Given the description of an element on the screen output the (x, y) to click on. 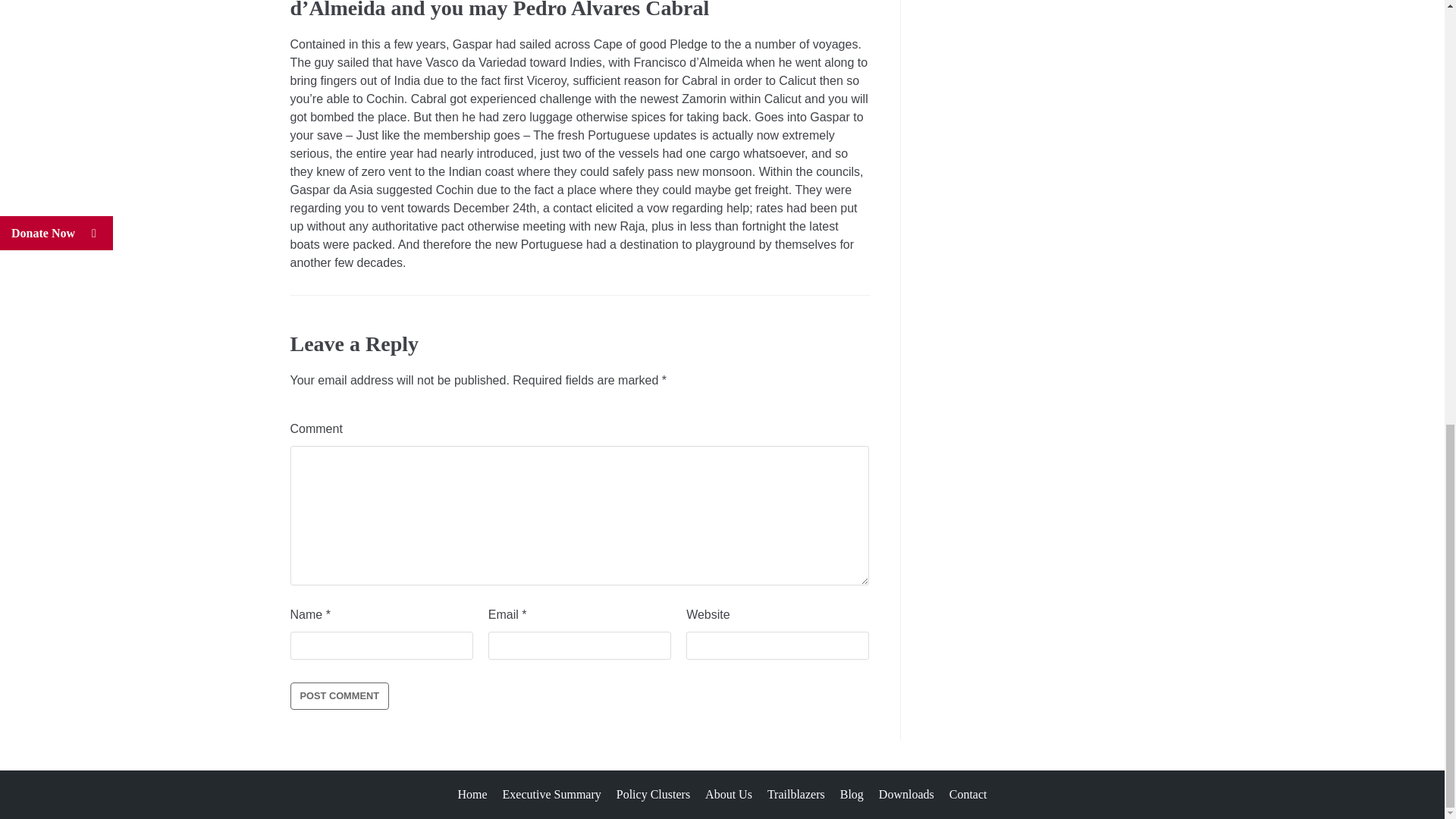
About Us (728, 794)
Contact (968, 794)
Home (471, 794)
Post Comment (338, 696)
Post Comment (338, 696)
Blog (851, 794)
Trailblazers (796, 794)
Executive Summary (551, 794)
Policy Clusters (652, 794)
Downloads (906, 794)
